Given the description of an element on the screen output the (x, y) to click on. 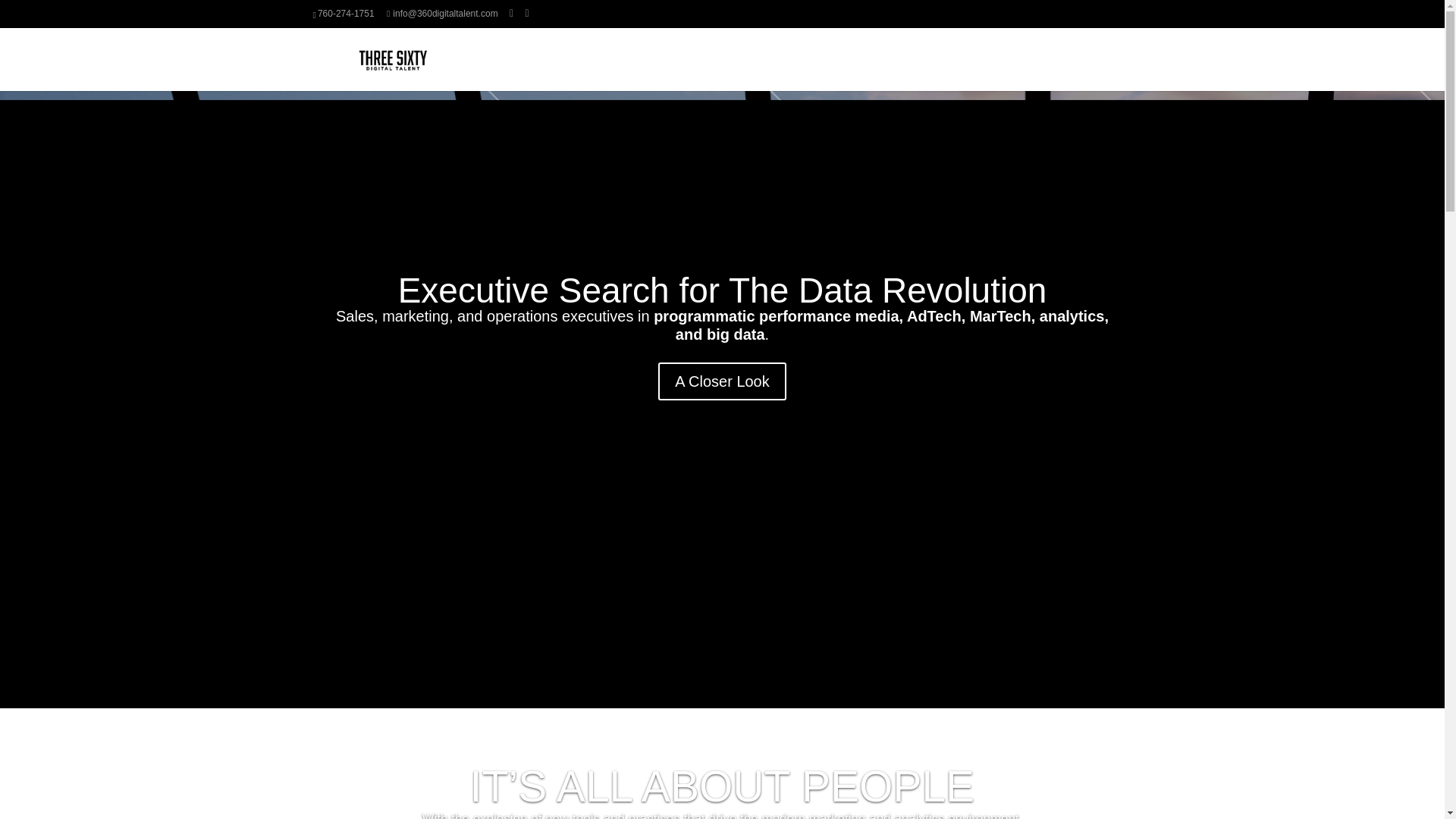
Connecting (850, 68)
Three Sixty Blog (1062, 68)
Relationships (929, 68)
